Given the description of an element on the screen output the (x, y) to click on. 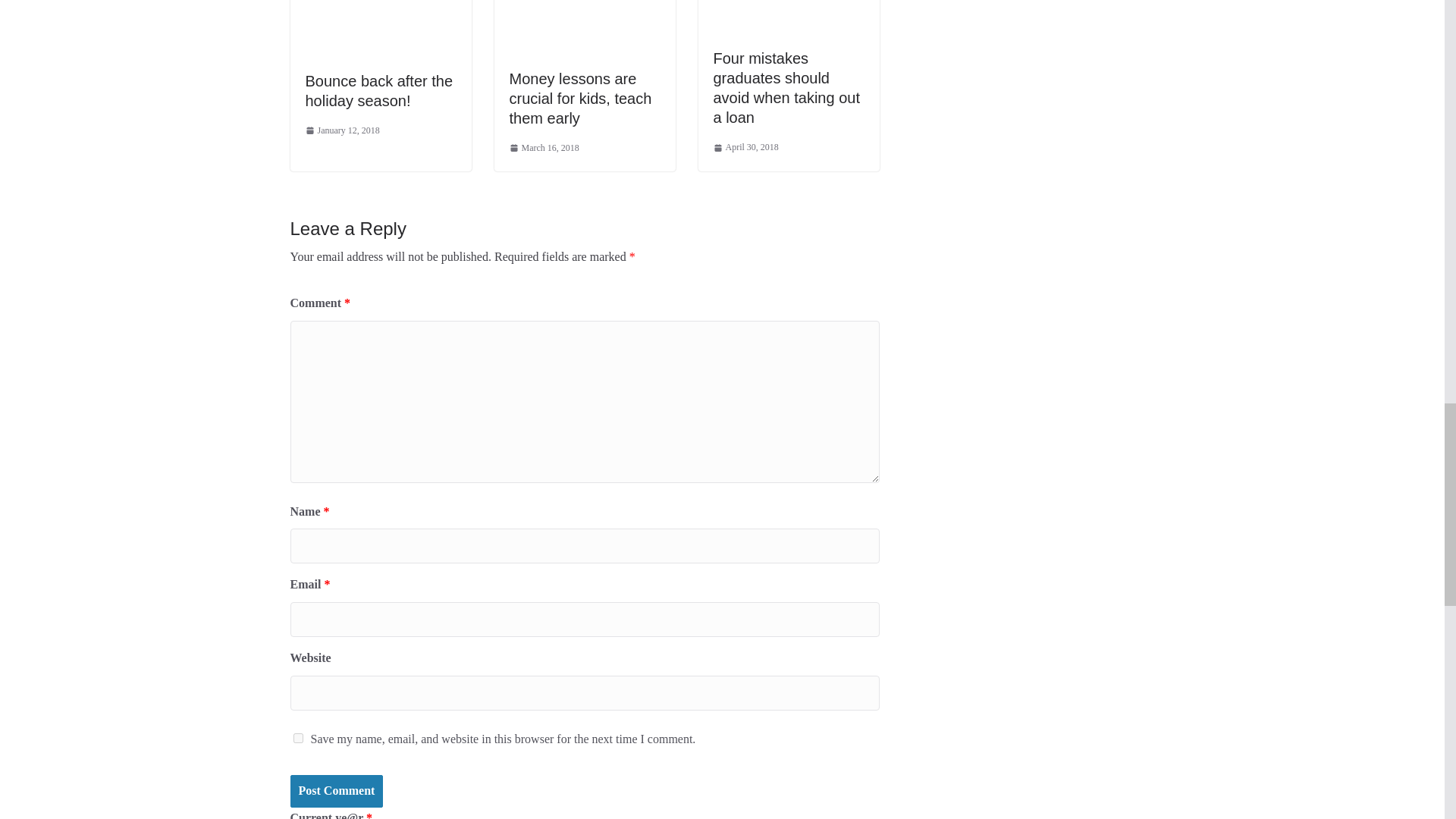
Bounce back after the holiday season! (378, 90)
Post Comment (335, 790)
yes (297, 737)
10:11 am (341, 130)
Bounce back after the holiday season! (378, 90)
Four mistakes graduates should avoid when taking out a loan (786, 87)
Money lessons are crucial for kids, teach them early (580, 98)
10:15 am (544, 148)
March 16, 2018 (544, 148)
April 30, 2018 (745, 147)
January 12, 2018 (341, 130)
Money lessons are crucial for kids, teach them early (580, 98)
